Given the description of an element on the screen output the (x, y) to click on. 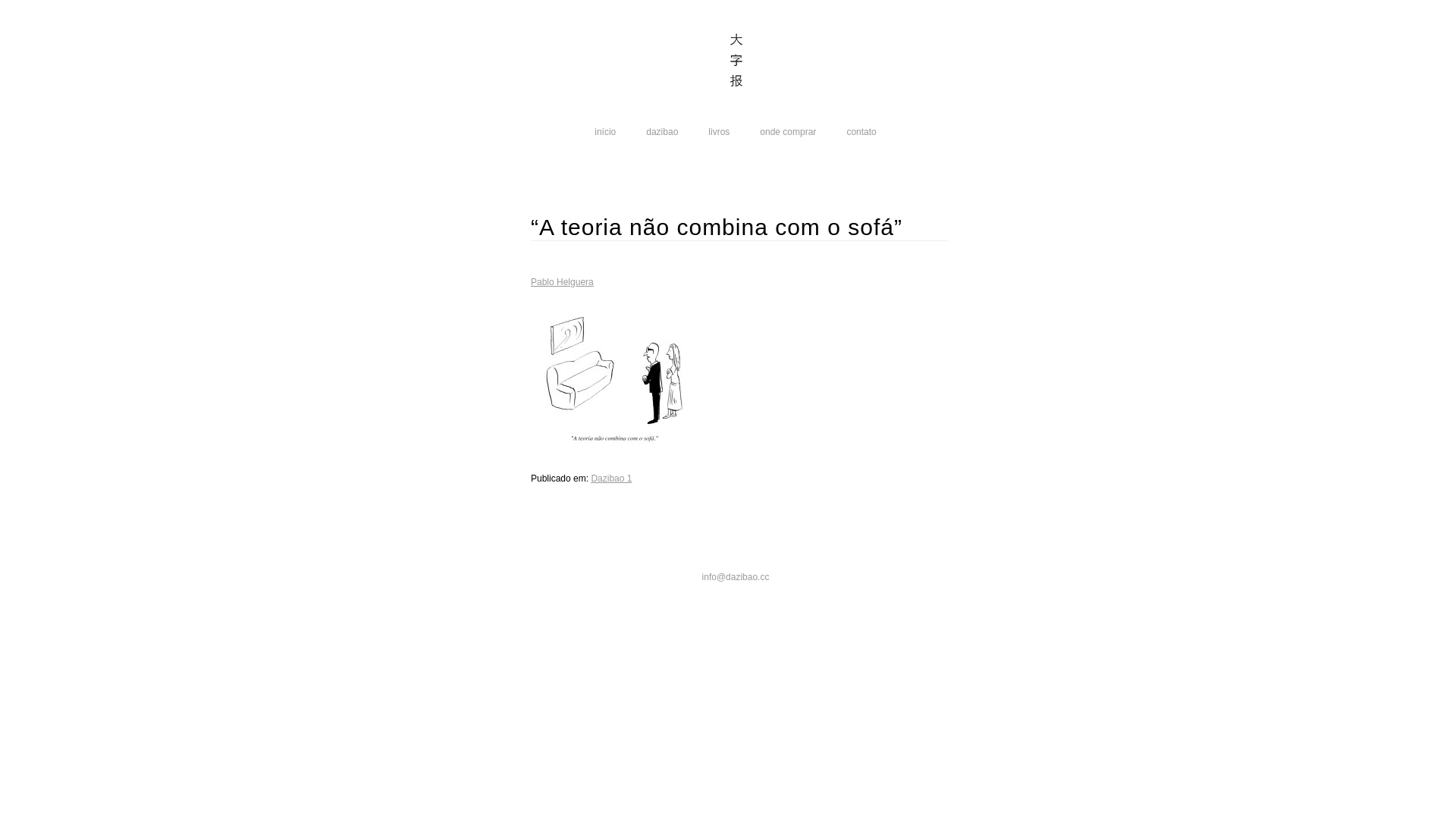
Pablo Helguera Element type: text (561, 281)
Dazibao 1 Element type: text (610, 478)
livros Element type: text (718, 131)
dazibao Element type: text (661, 131)
contato Element type: text (860, 131)
dazibao Element type: hover (735, 62)
onde comprar Element type: text (787, 131)
